Given the description of an element on the screen output the (x, y) to click on. 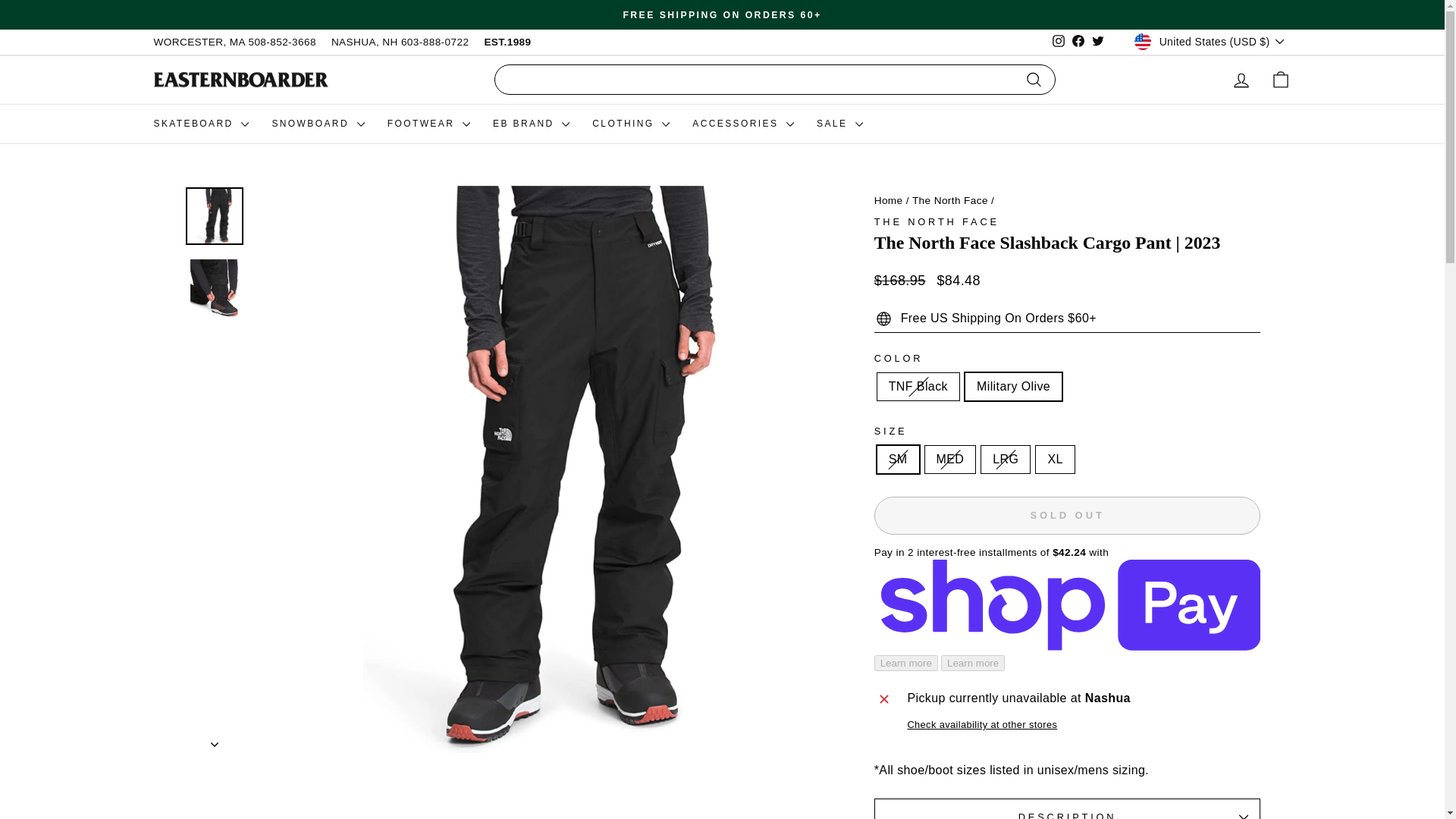
Eastern Boarder on Twitter (1097, 42)
ICON-BAG-MINIMAL (1279, 79)
Eastern Boarder on Instagram (1058, 42)
ACCOUNT (1240, 79)
twitter (1097, 40)
Back to the frontpage (888, 200)
icon-chevron (214, 744)
instagram (1058, 40)
